Given the description of an element on the screen output the (x, y) to click on. 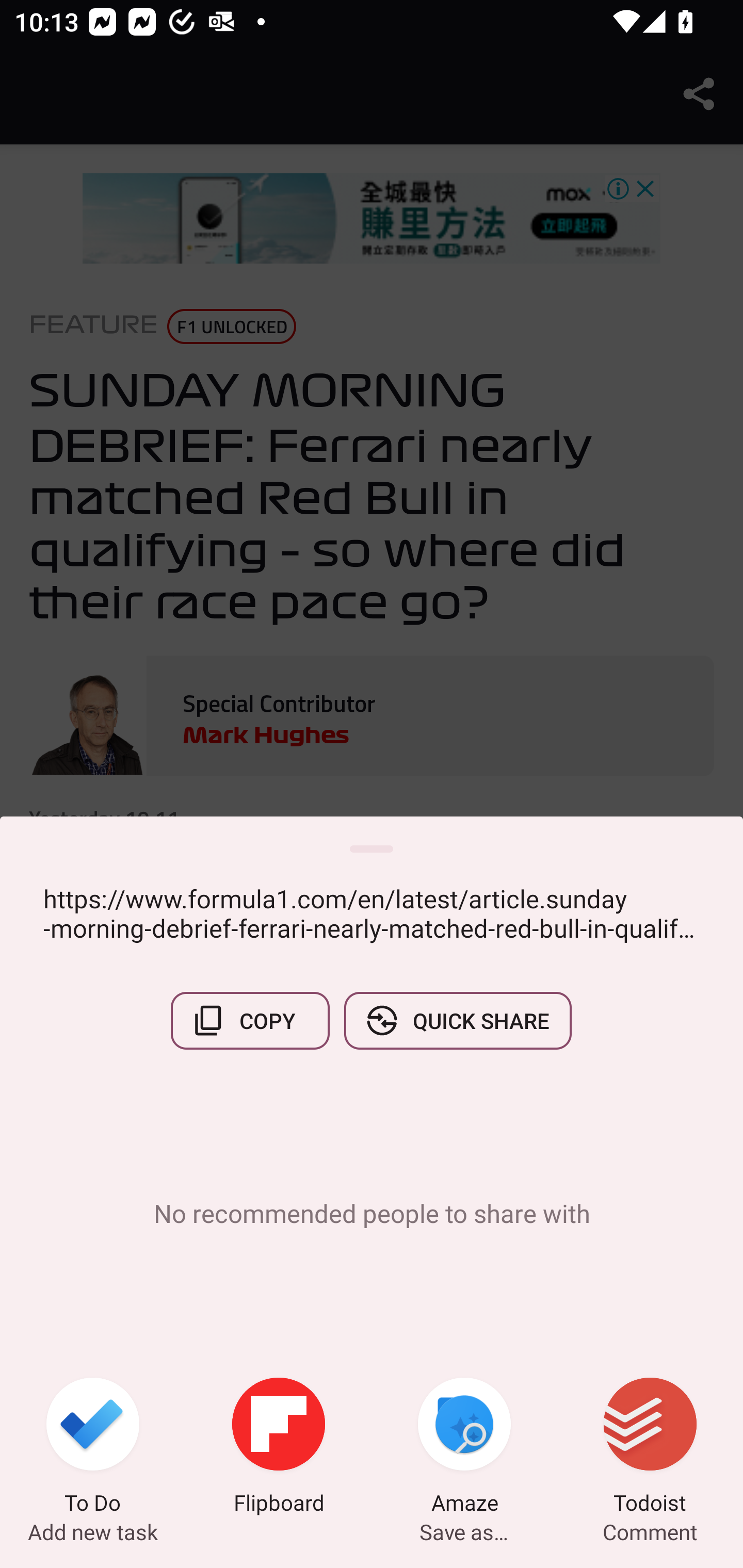
COPY (249, 1020)
QUICK SHARE (457, 1020)
To Do Add new task (92, 1448)
Flipboard (278, 1448)
Amaze Save as… (464, 1448)
Todoist Comment (650, 1448)
